Given the description of an element on the screen output the (x, y) to click on. 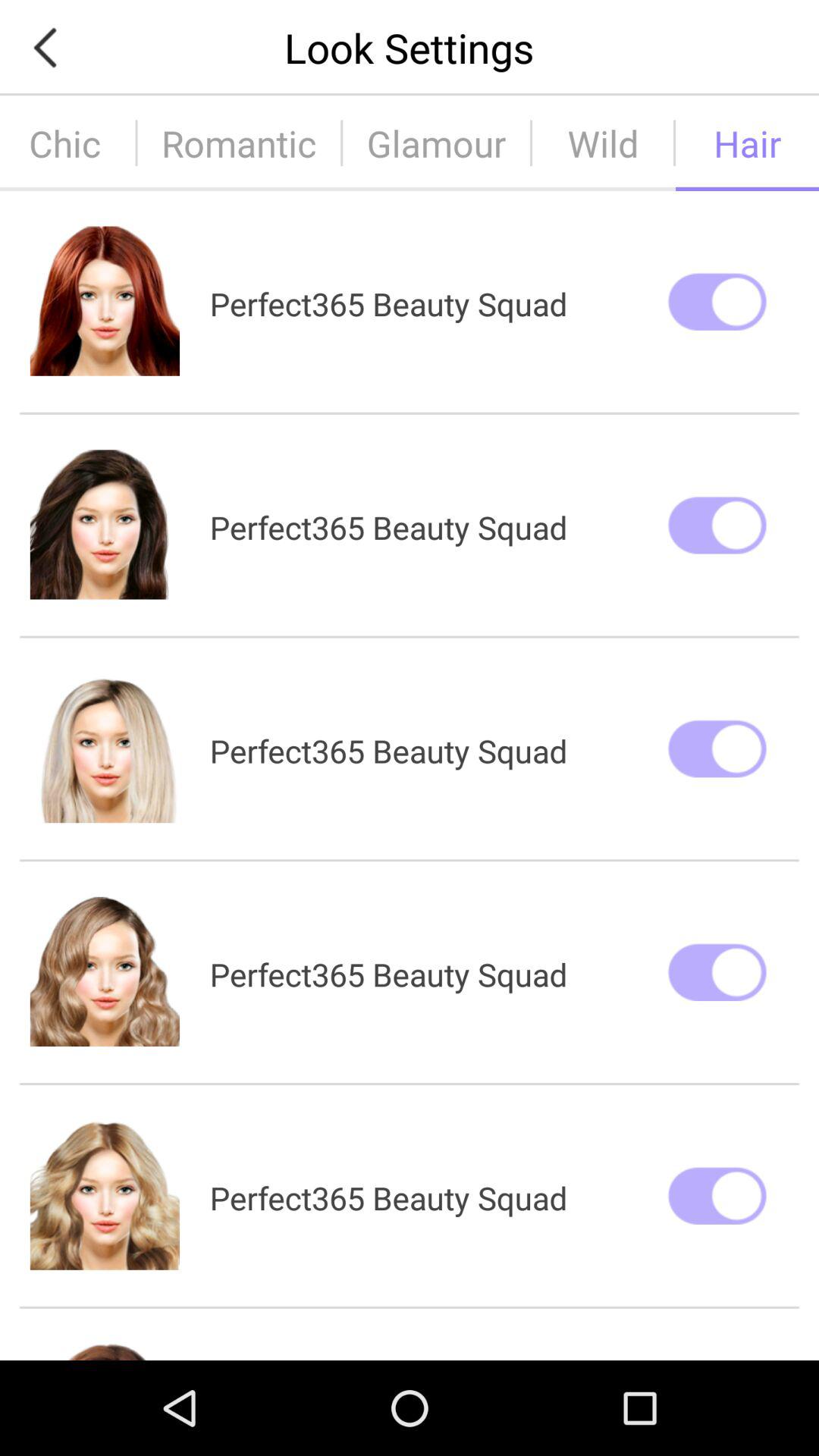
click on fifth switch from top (717, 1195)
click on first switch from top (717, 301)
select the 6th row image in display (104, 1350)
